Given the description of an element on the screen output the (x, y) to click on. 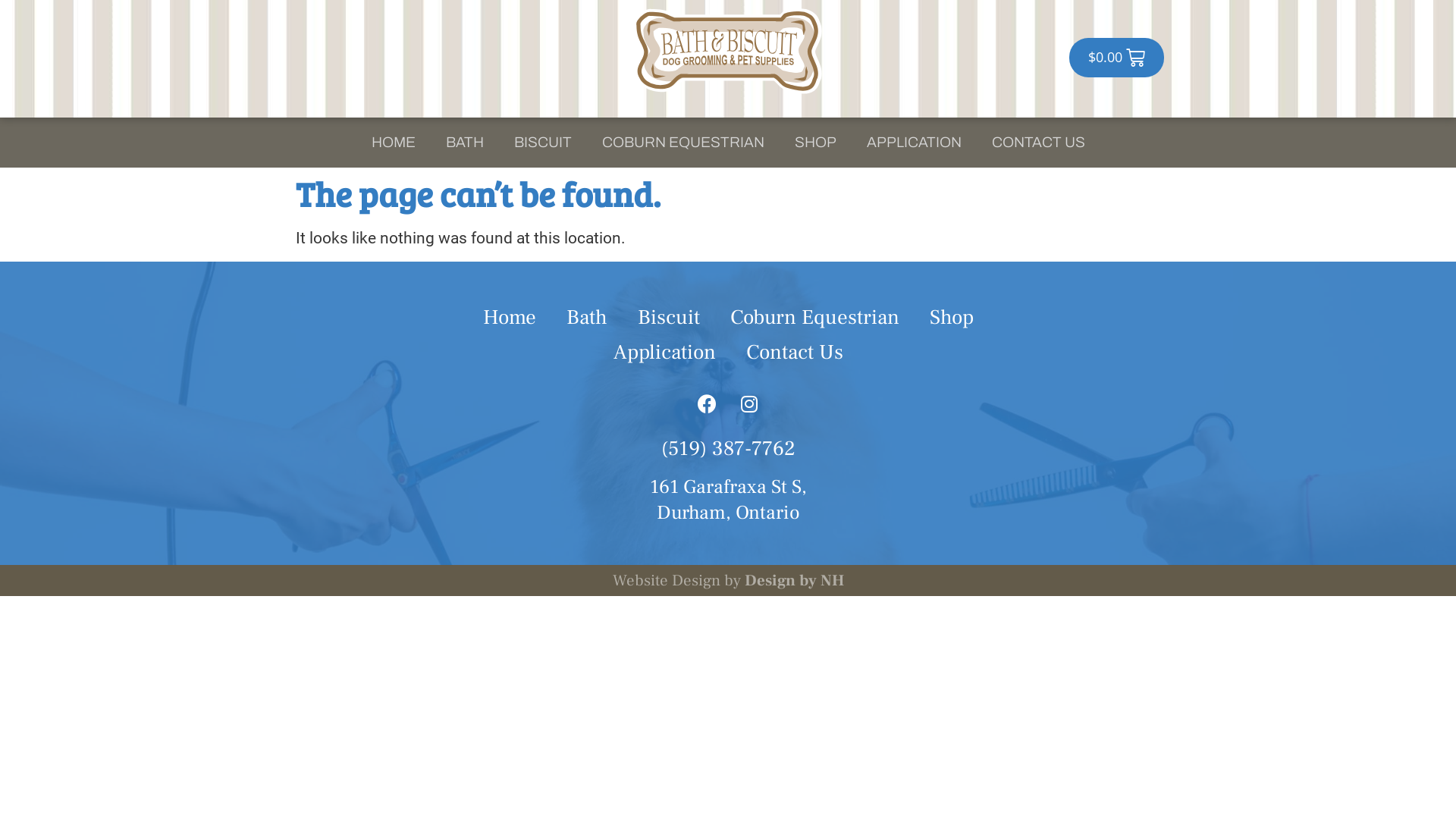
COBURN EQUESTRIAN Element type: text (682, 142)
Bath Element type: text (585, 317)
BISCUIT Element type: text (542, 142)
Shop Element type: text (951, 317)
Contact Us Element type: text (794, 352)
$0.00 Element type: text (1116, 57)
HOME Element type: text (393, 142)
161 Garafraxa St S,
Durham, Ontario Element type: text (727, 499)
APPLICATION Element type: text (912, 142)
Home Element type: text (508, 317)
(519) 387-7762 Element type: text (728, 448)
Coburn Equestrian Element type: text (813, 317)
BATH Element type: text (464, 142)
Website Design by Design by NH Element type: text (728, 580)
bath and biscuit Element type: hover (727, 50)
Application Element type: text (663, 352)
CONTACT US Element type: text (1038, 142)
SHOP Element type: text (815, 142)
Biscuit Element type: text (667, 317)
